Given the description of an element on the screen output the (x, y) to click on. 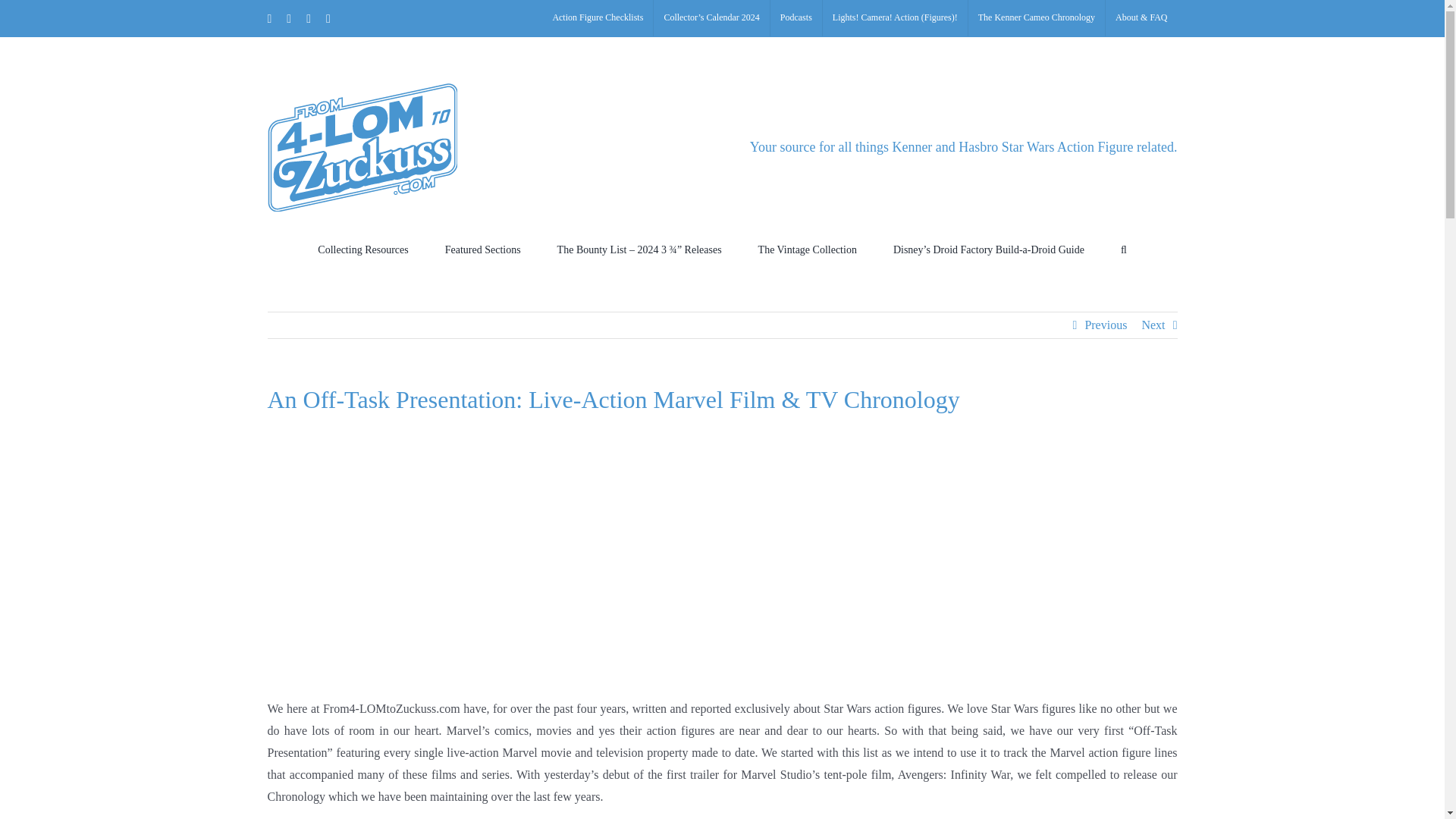
Collecting Resources (362, 250)
Featured Sections (483, 250)
Podcasts (796, 18)
The Kenner Cameo Chronology (1036, 18)
Action Figure Checklists (596, 18)
